Given the description of an element on the screen output the (x, y) to click on. 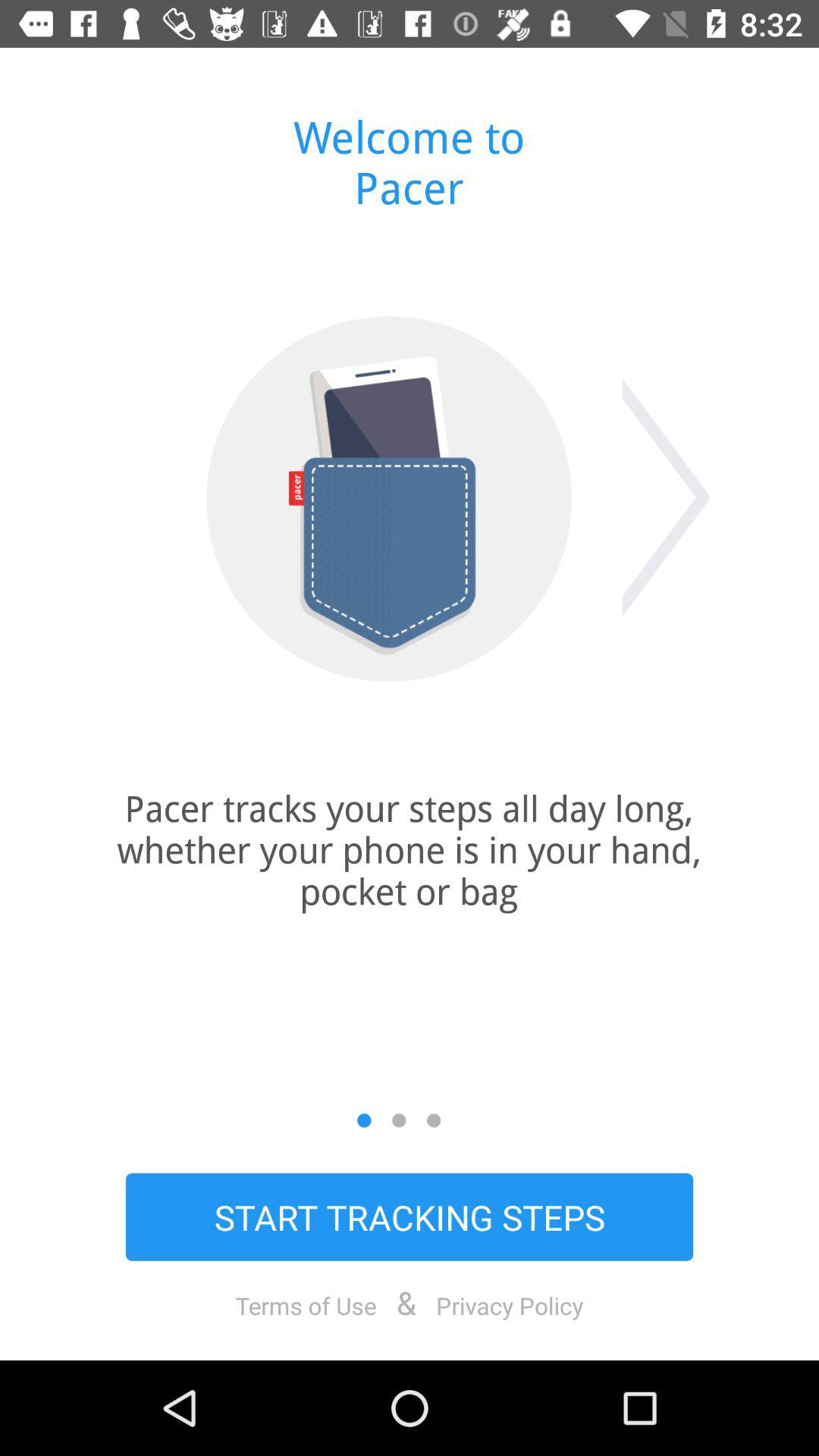
turn on icon above & item (409, 1217)
